Given the description of an element on the screen output the (x, y) to click on. 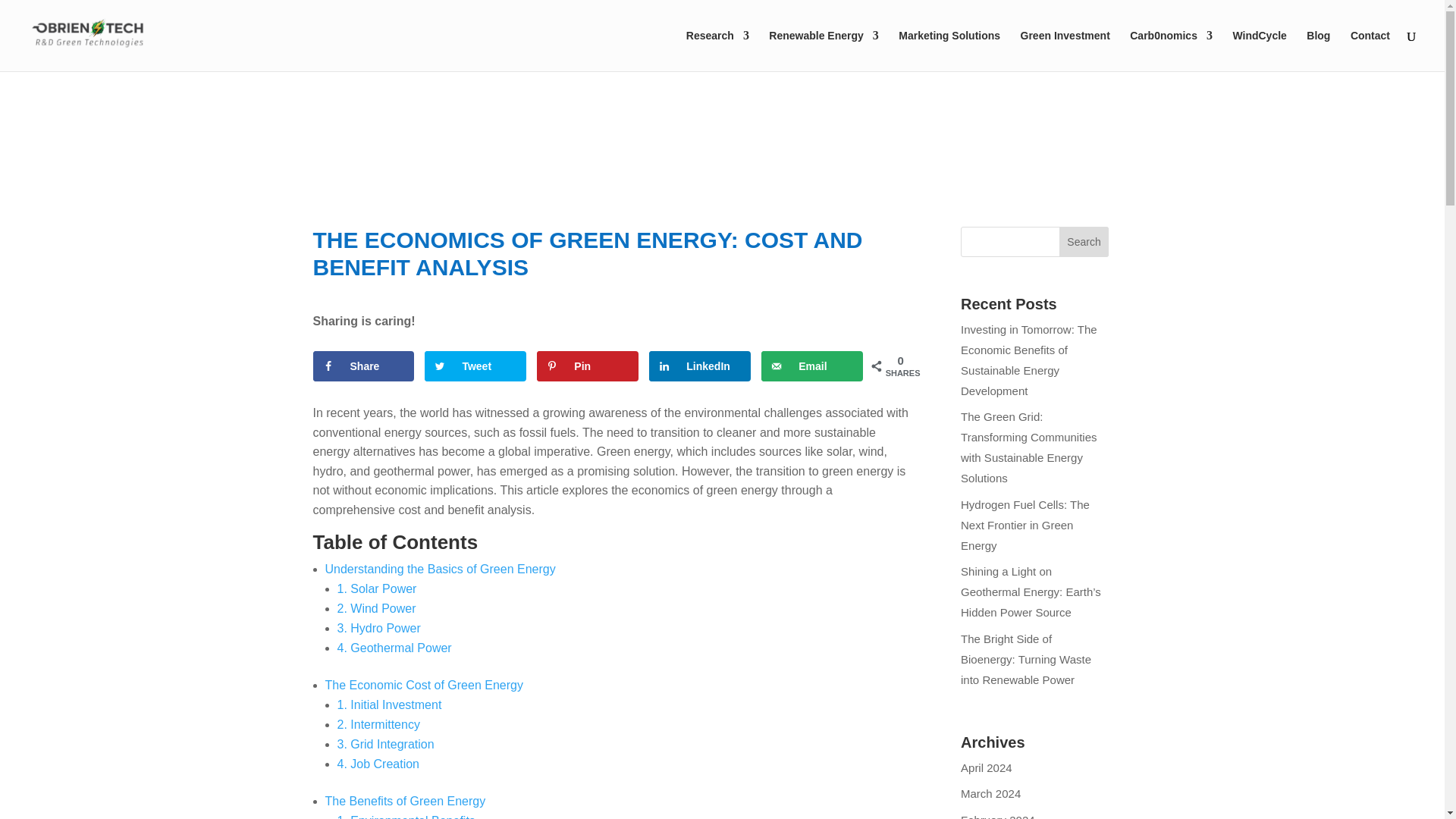
Share on Twitter (475, 366)
Research (717, 50)
Share (363, 366)
4. Job Creation (377, 763)
1. Initial Investment (388, 704)
3. Hydro Power (378, 627)
3. Grid Integration (384, 744)
WindCycle (1258, 50)
Marketing Solutions (949, 50)
Send over email (811, 366)
